Given the description of an element on the screen output the (x, y) to click on. 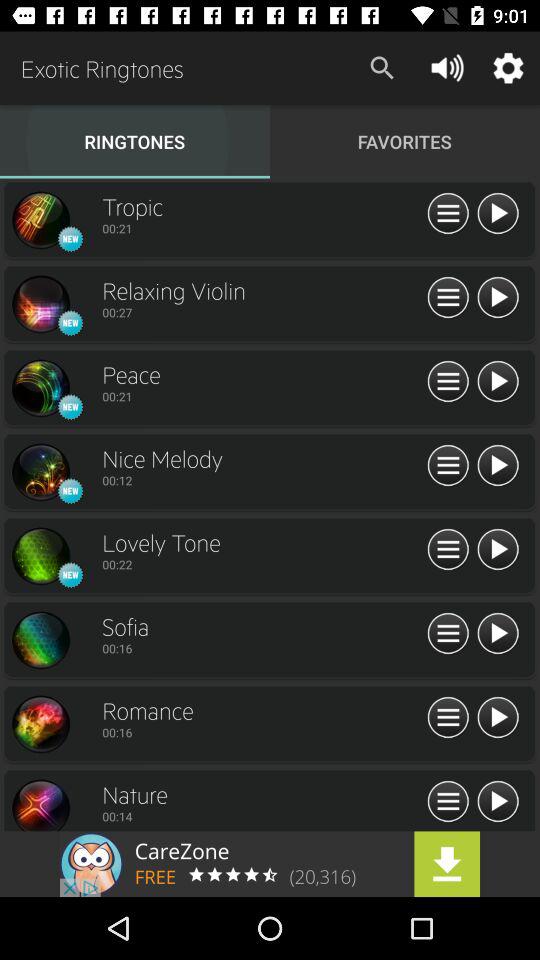
see more options (447, 465)
